Given the description of an element on the screen output the (x, y) to click on. 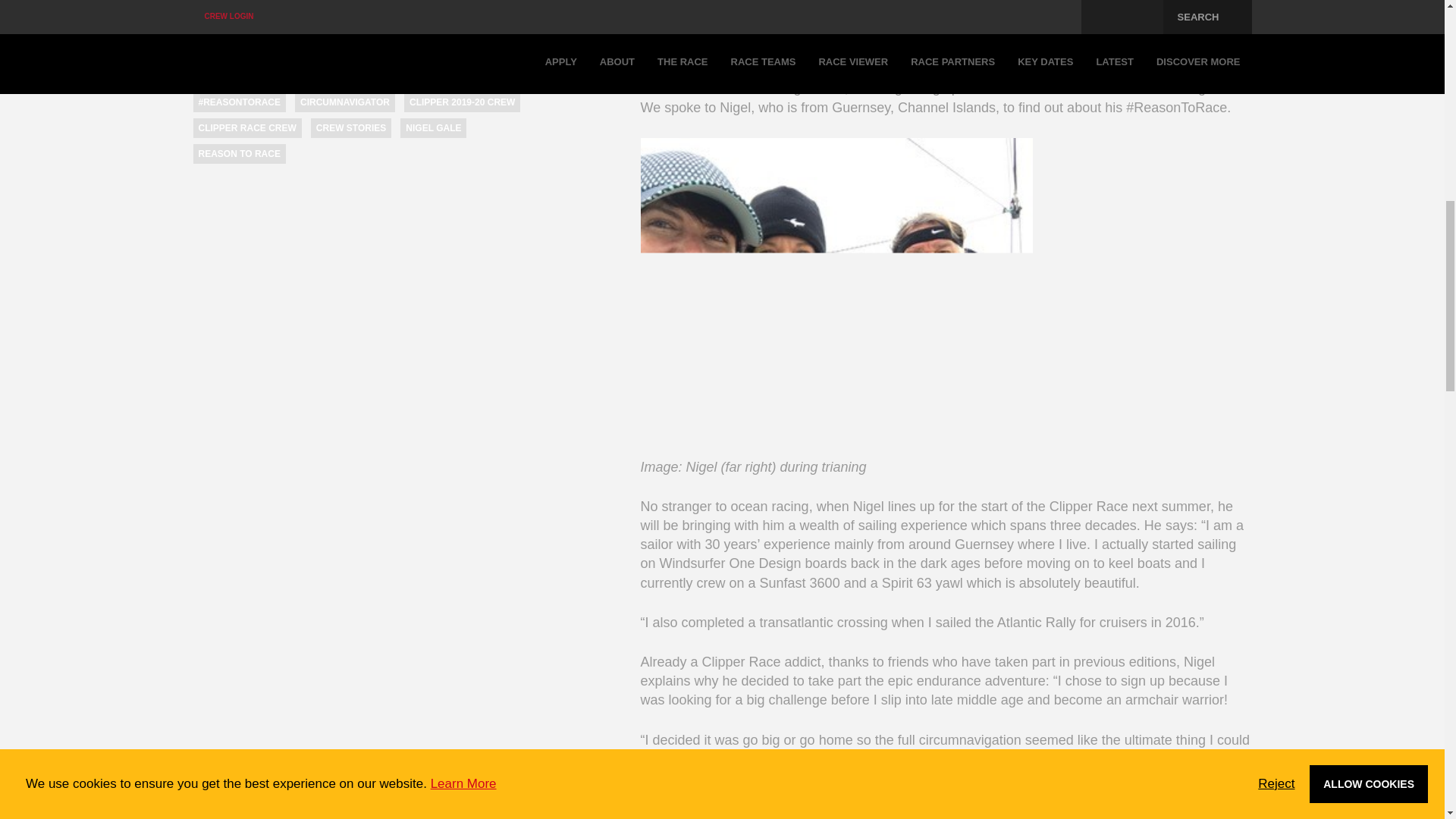
Share on LinkedIn (263, 35)
Share on Twitter (233, 35)
Share on Reddit (357, 35)
Share on Pinterest (292, 35)
Share on Facebook (201, 35)
Share on StumbleUpon (391, 35)
